Given the description of an element on the screen output the (x, y) to click on. 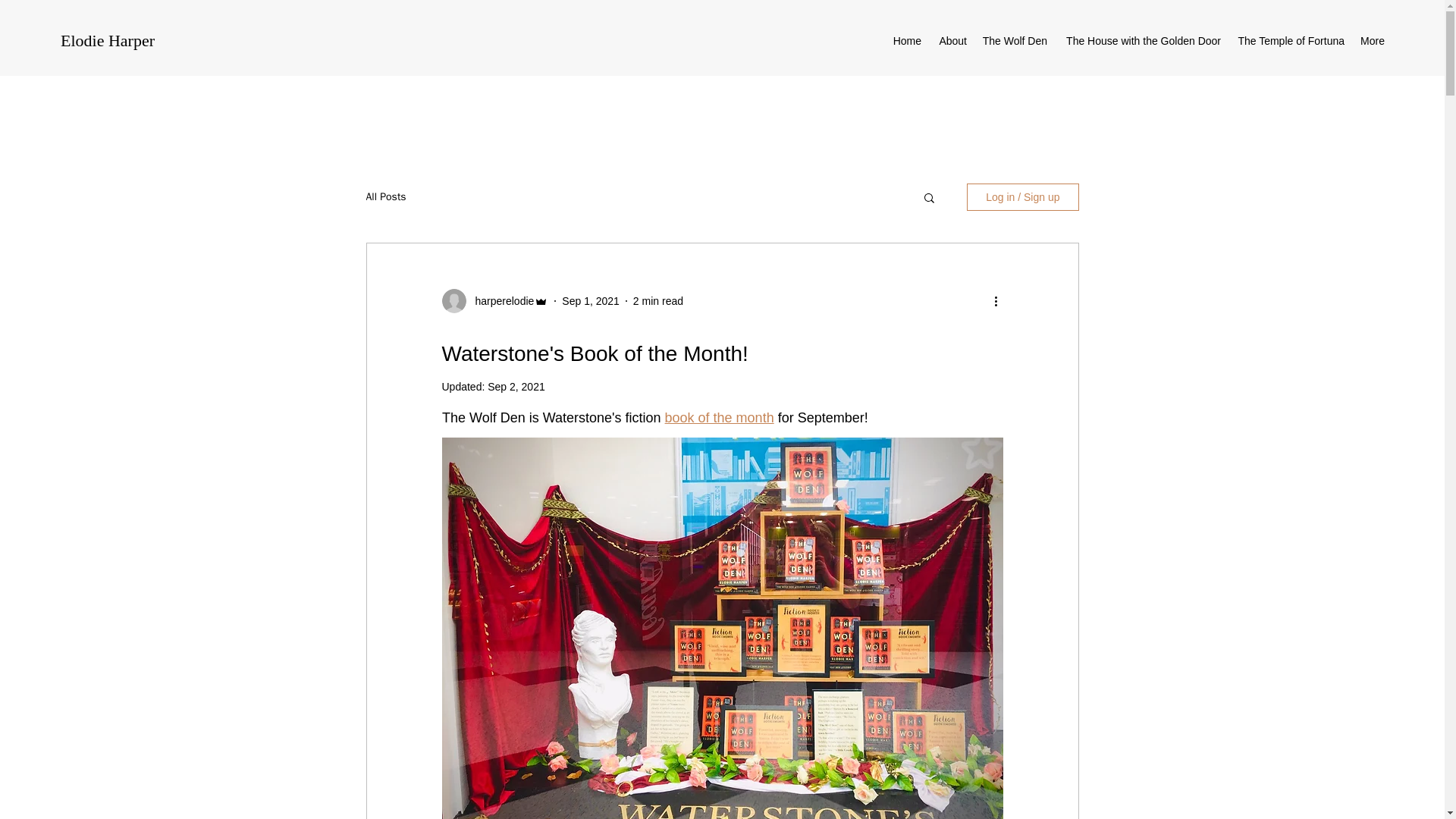
Elodie Harper (107, 40)
Sep 2, 2021 (515, 386)
harperelodie (499, 300)
The Temple of Fortuna (1290, 40)
Home (906, 40)
The House with the Golden Door (1141, 40)
book of the month (718, 417)
All Posts (385, 196)
2 min read (657, 300)
About (951, 40)
